Given the description of an element on the screen output the (x, y) to click on. 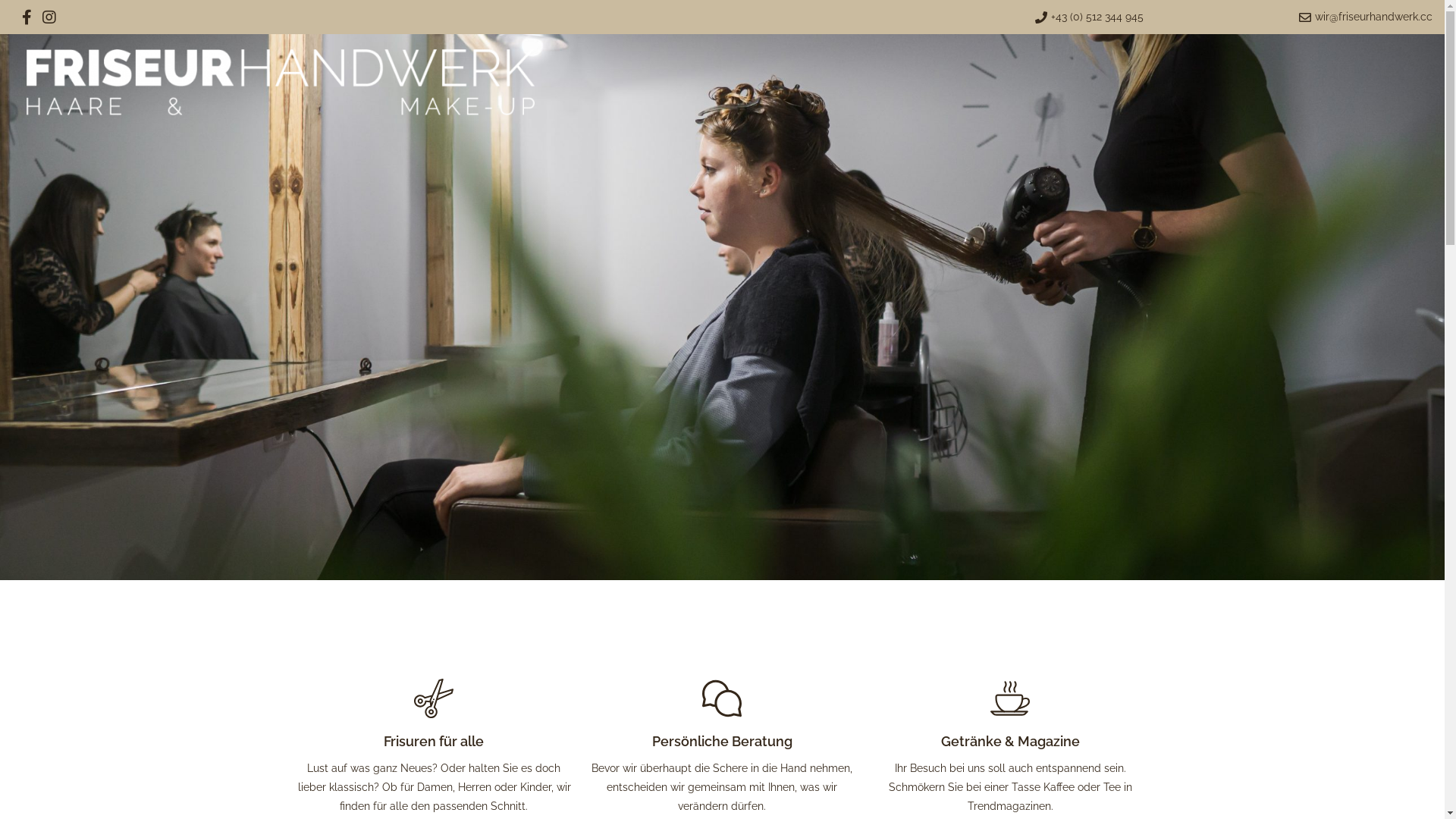
wir@friseurhandwerk.cc Element type: text (1295, 16)
+43 (0) 512 344 945 Element type: text (816, 16)
